Given the description of an element on the screen output the (x, y) to click on. 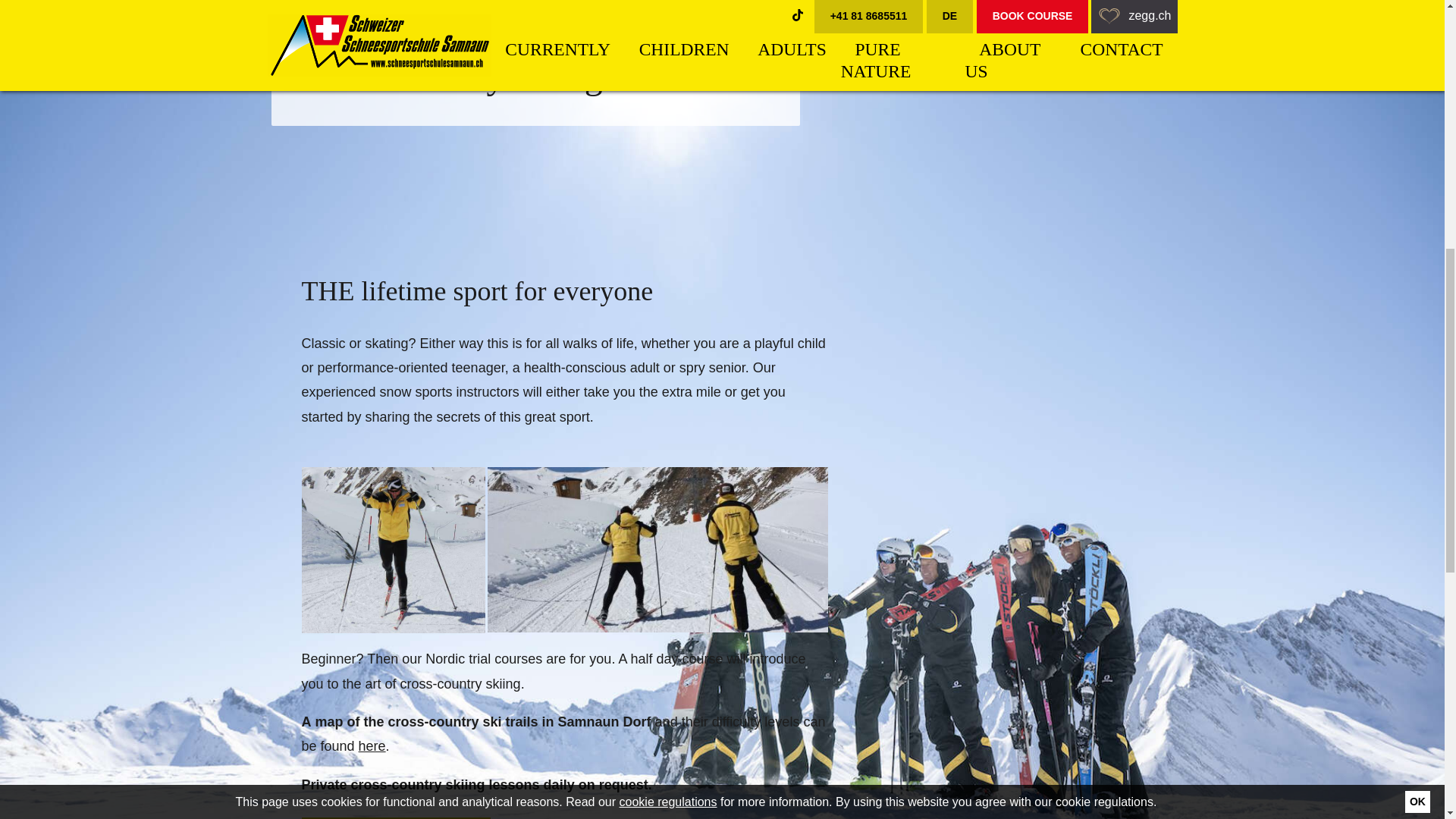
map overview cross-country skiing in Samnaun (371, 745)
